Given the description of an element on the screen output the (x, y) to click on. 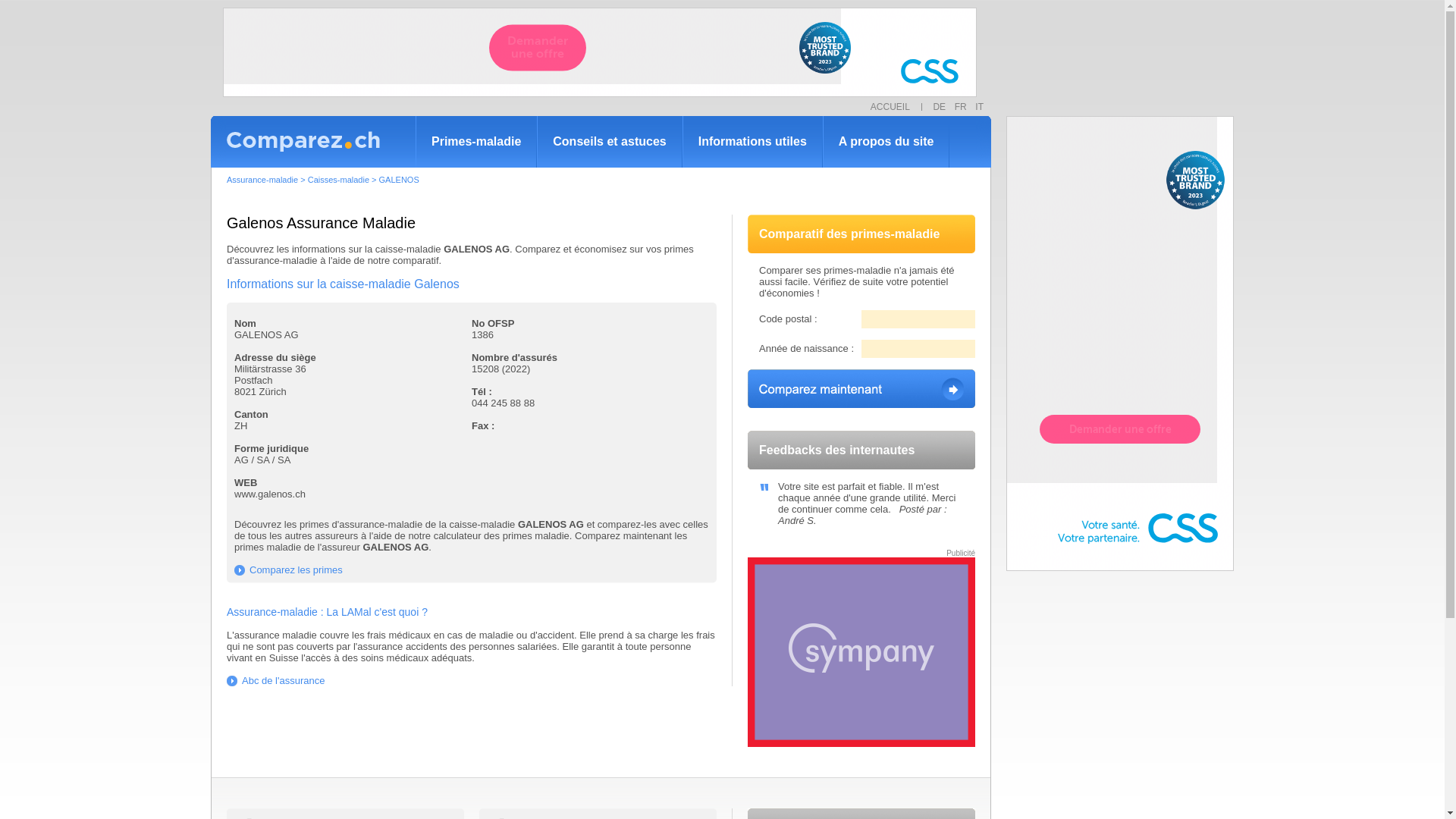
3rd party ad content Element type: hover (599, 52)
comparez.ch Element type: hover (312, 141)
DE Element type: text (938, 106)
Conseils et astuces Element type: text (608, 140)
IT Element type: text (979, 106)
3rd party ad content Element type: hover (1119, 343)
Primes-maladie Element type: text (475, 140)
Assurance-maladie Element type: text (262, 179)
A propos du site Element type: text (886, 140)
FR Element type: text (963, 106)
3rd party ad content Element type: hover (861, 651)
Informations utiles Element type: text (752, 140)
Comparez les primes Element type: text (288, 569)
GALENOS Element type: text (399, 179)
Caisses-maladie Element type: text (338, 179)
Abc de l'assurance Element type: text (275, 680)
ACCUEIL Element type: text (893, 106)
